Given the description of an element on the screen output the (x, y) to click on. 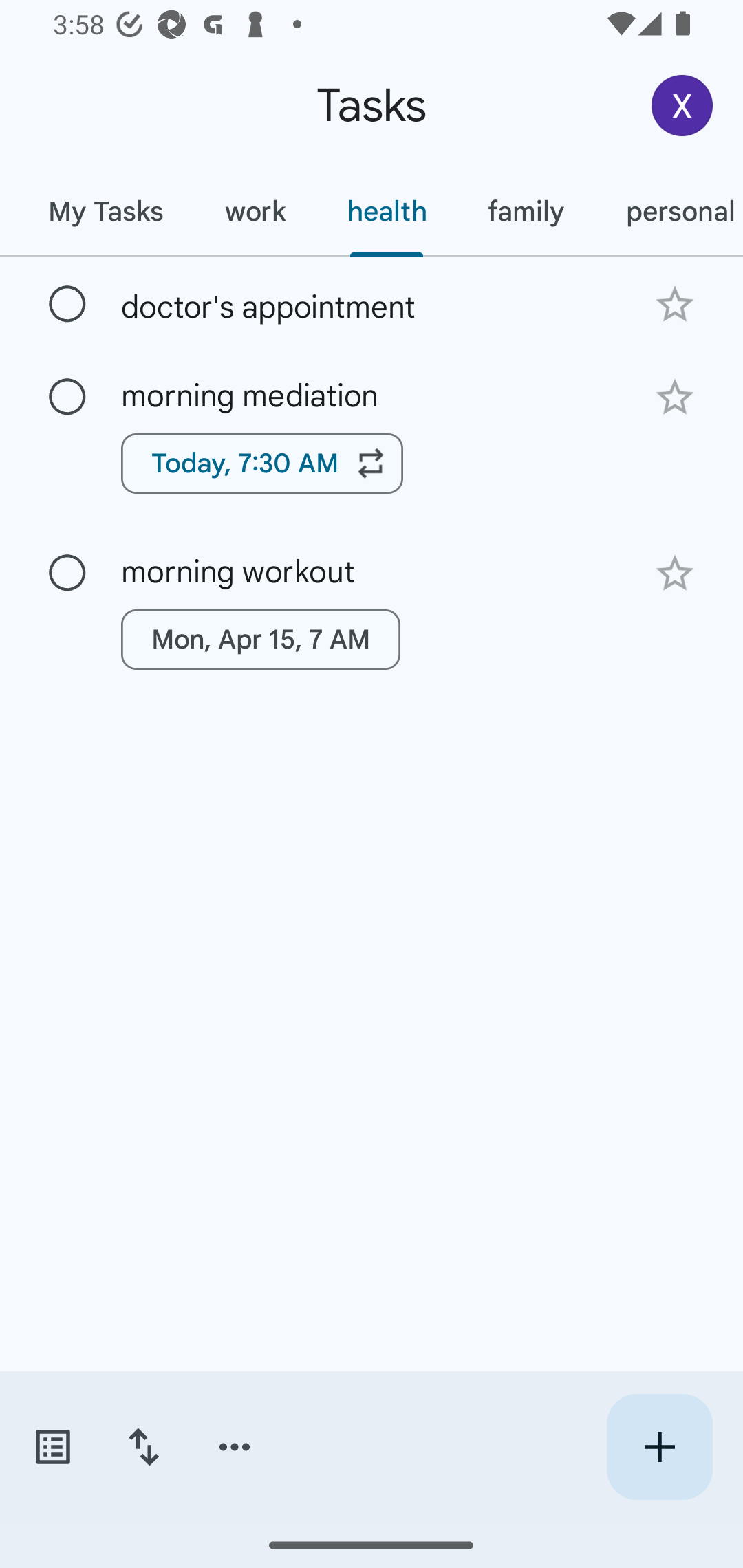
My Tasks (105, 211)
work (254, 211)
family (525, 211)
personal (669, 211)
Add star (674, 303)
Mark as complete (67, 304)
Add star (674, 397)
Mark as complete (67, 397)
Today, 7:30 AM (262, 463)
Add star (674, 573)
Mark as complete (67, 572)
Mon, Apr 15, 7 AM (260, 639)
Switch task lists (52, 1447)
Create new task (659, 1446)
Change sort order (143, 1446)
More options (234, 1446)
